Given the description of an element on the screen output the (x, y) to click on. 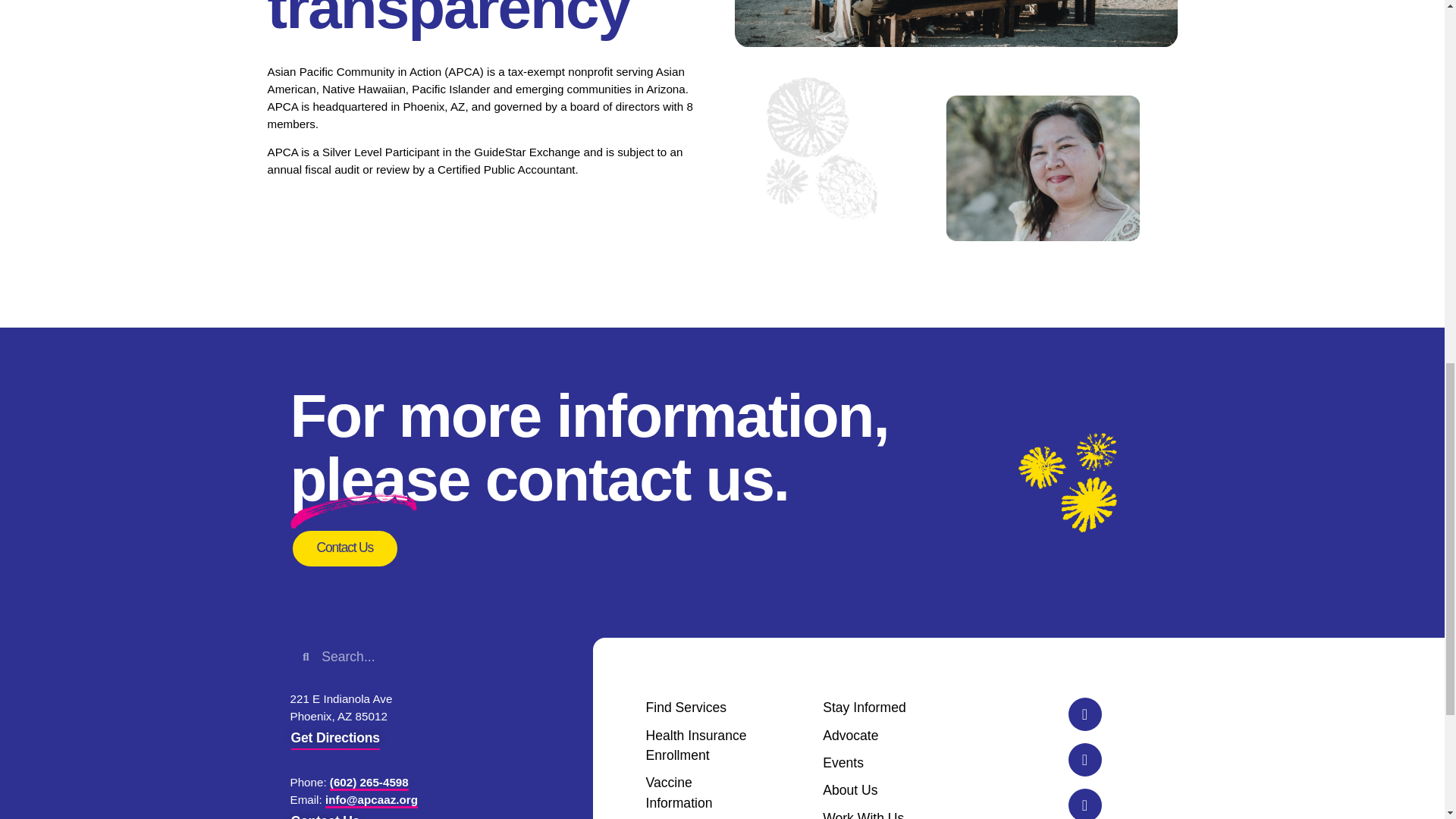
About Us (873, 790)
Advocate (873, 735)
Stay Informed (873, 707)
Get Directions (335, 741)
Find Services (697, 707)
Work With Us (873, 813)
Vaccine Information (697, 793)
Contact Us (343, 548)
Contact Us (325, 813)
Health Insurance Enrollment (697, 745)
